Given the description of an element on the screen output the (x, y) to click on. 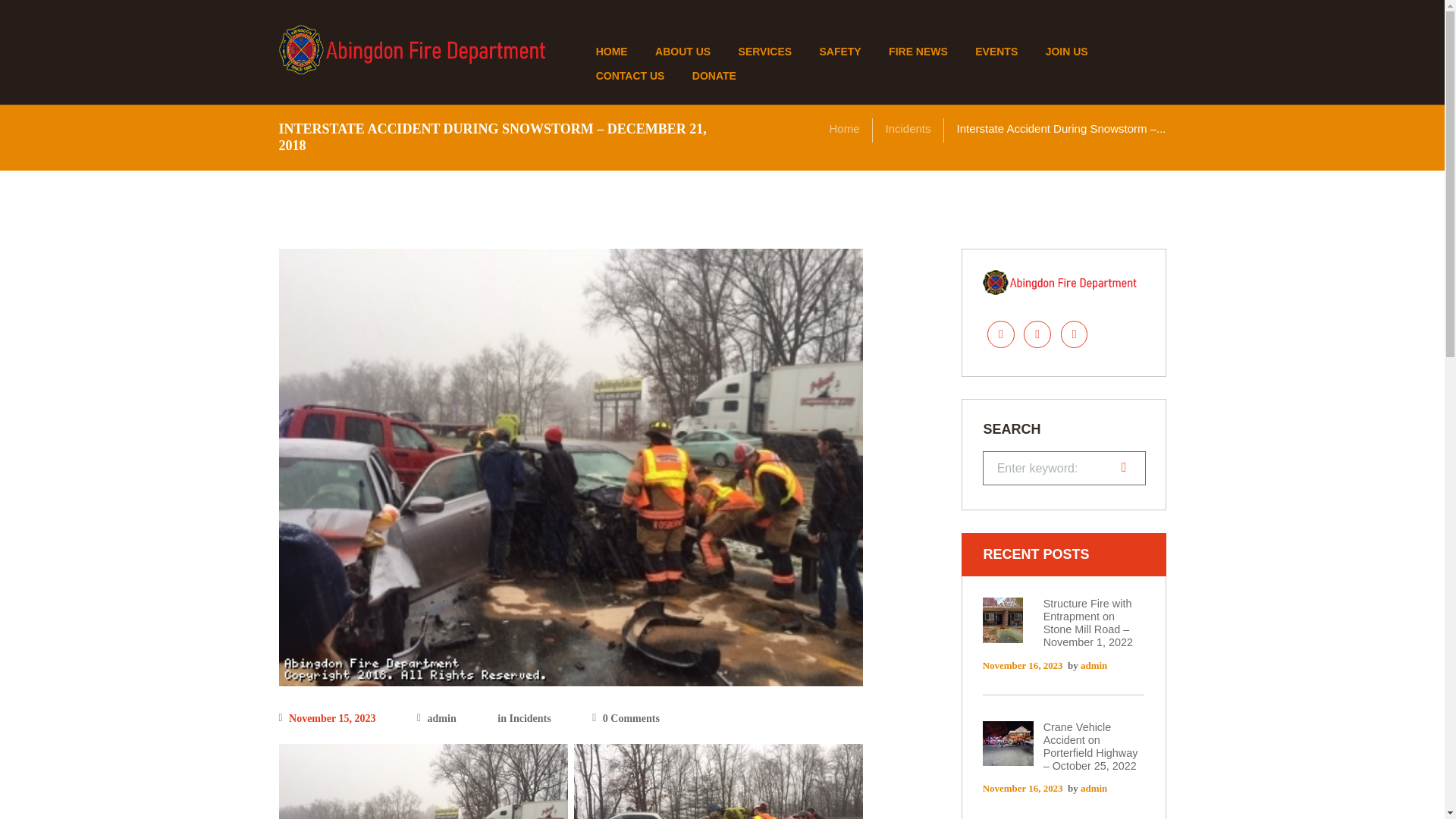
EVENTS (995, 52)
JOIN US (1065, 52)
ABOUT US (683, 52)
FIRE NEWS (917, 52)
Search for: (1064, 468)
Comments - 0 (625, 718)
CONTACT US (629, 76)
HOME (610, 52)
SERVICES (764, 52)
DONATE (713, 76)
SAFETY (840, 52)
